Given the description of an element on the screen output the (x, y) to click on. 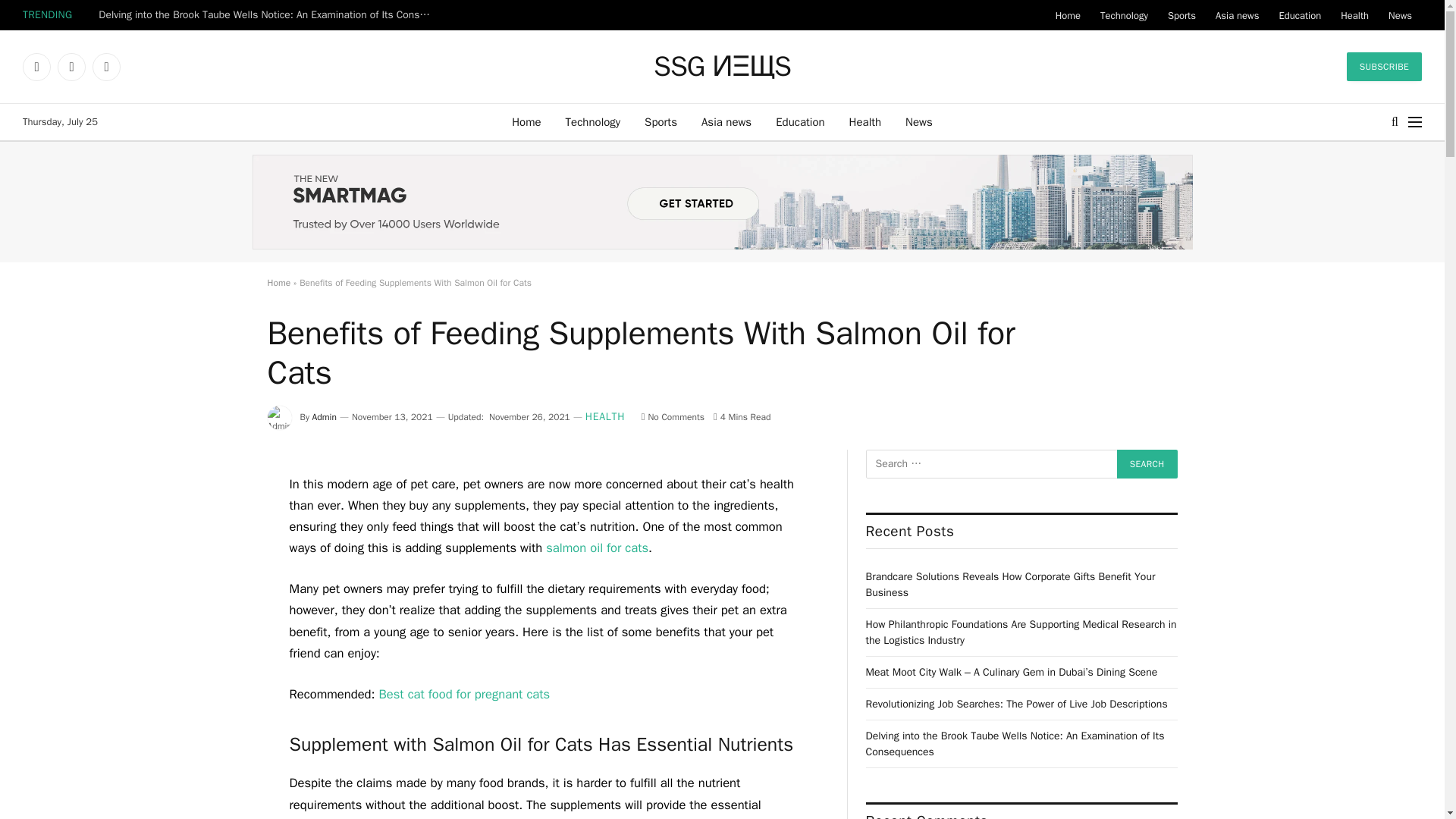
Posts by Admin (324, 417)
Education (798, 122)
Search (1146, 463)
Technology (1123, 15)
Asia news (725, 122)
Facebook (36, 67)
Technology (593, 122)
Home (526, 122)
Home (1067, 15)
Health (1354, 15)
Health (865, 122)
Sports (1181, 15)
Education (1299, 15)
Search (1146, 463)
